Given the description of an element on the screen output the (x, y) to click on. 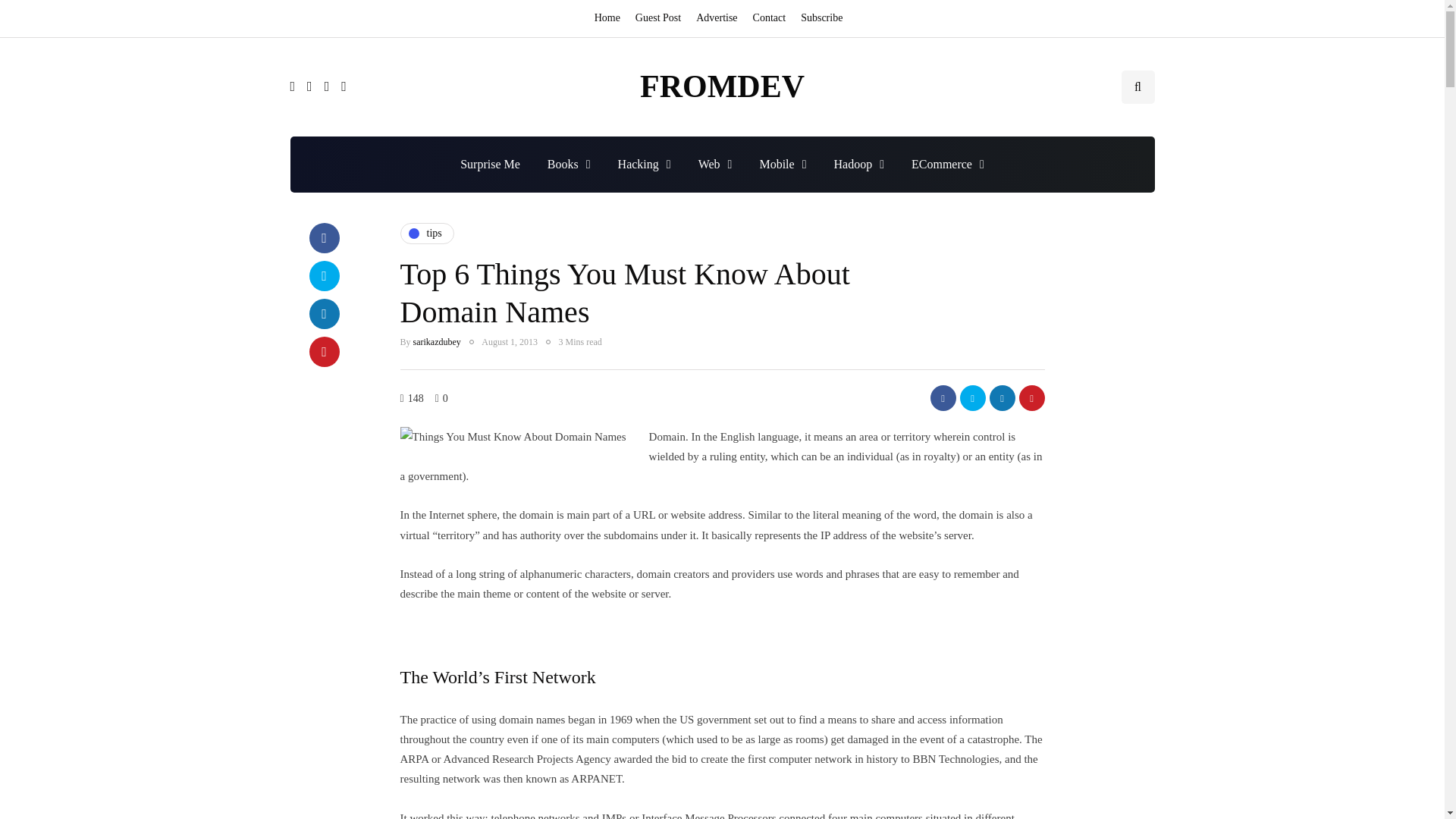
Guest Post (657, 18)
Hacking (644, 163)
Home (610, 18)
Books (569, 163)
Advertise (716, 18)
Web (714, 163)
FROMDEV (722, 86)
Subscribe (821, 18)
Surprise Me (490, 163)
Mobile (782, 163)
Hadoop (858, 163)
Contact (769, 18)
